Given the description of an element on the screen output the (x, y) to click on. 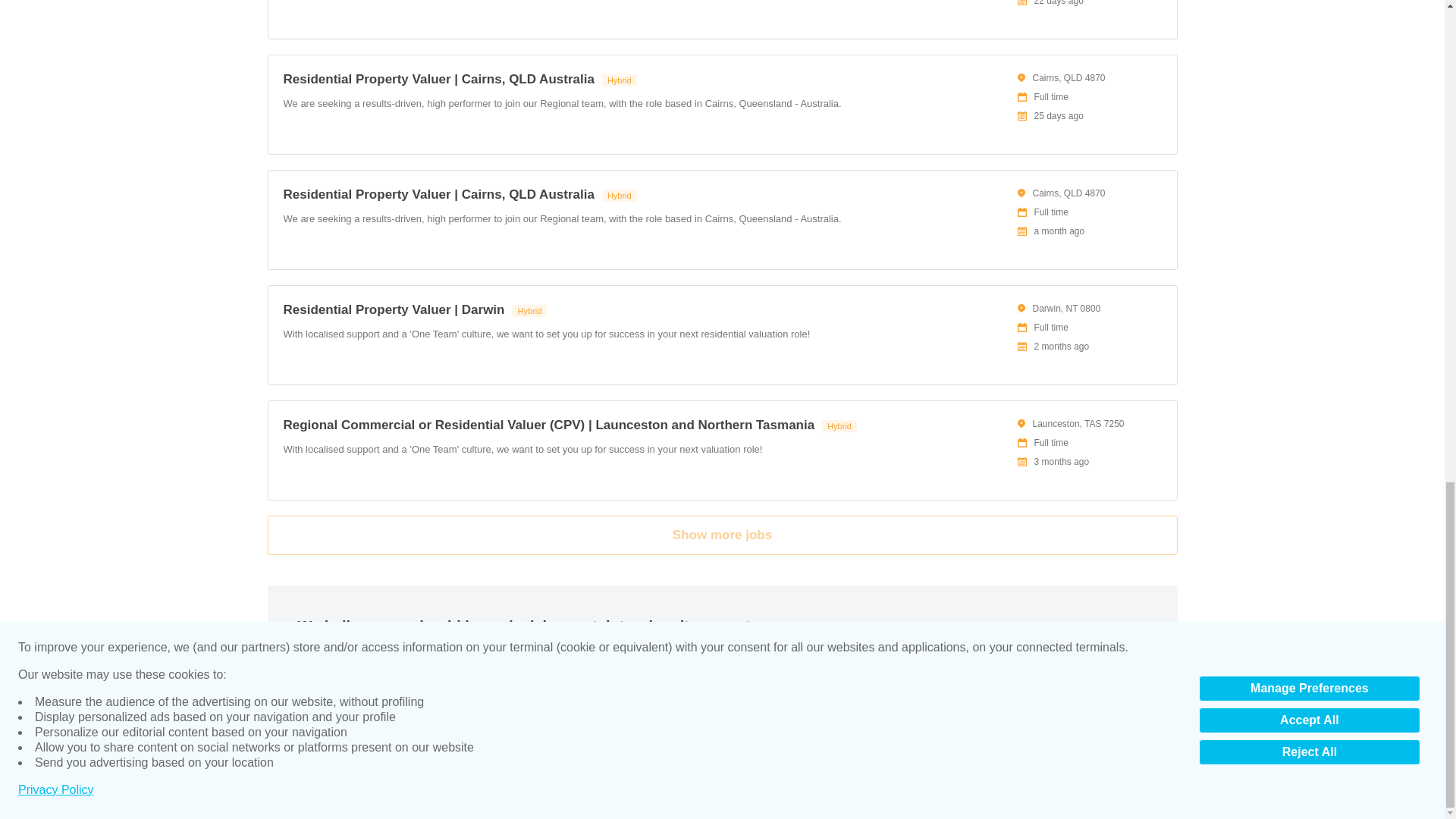
Join our Talent Community (1032, 656)
Show more jobs (721, 535)
Terms of Service (368, 785)
Privacy Policy (295, 785)
